Given the description of an element on the screen output the (x, y) to click on. 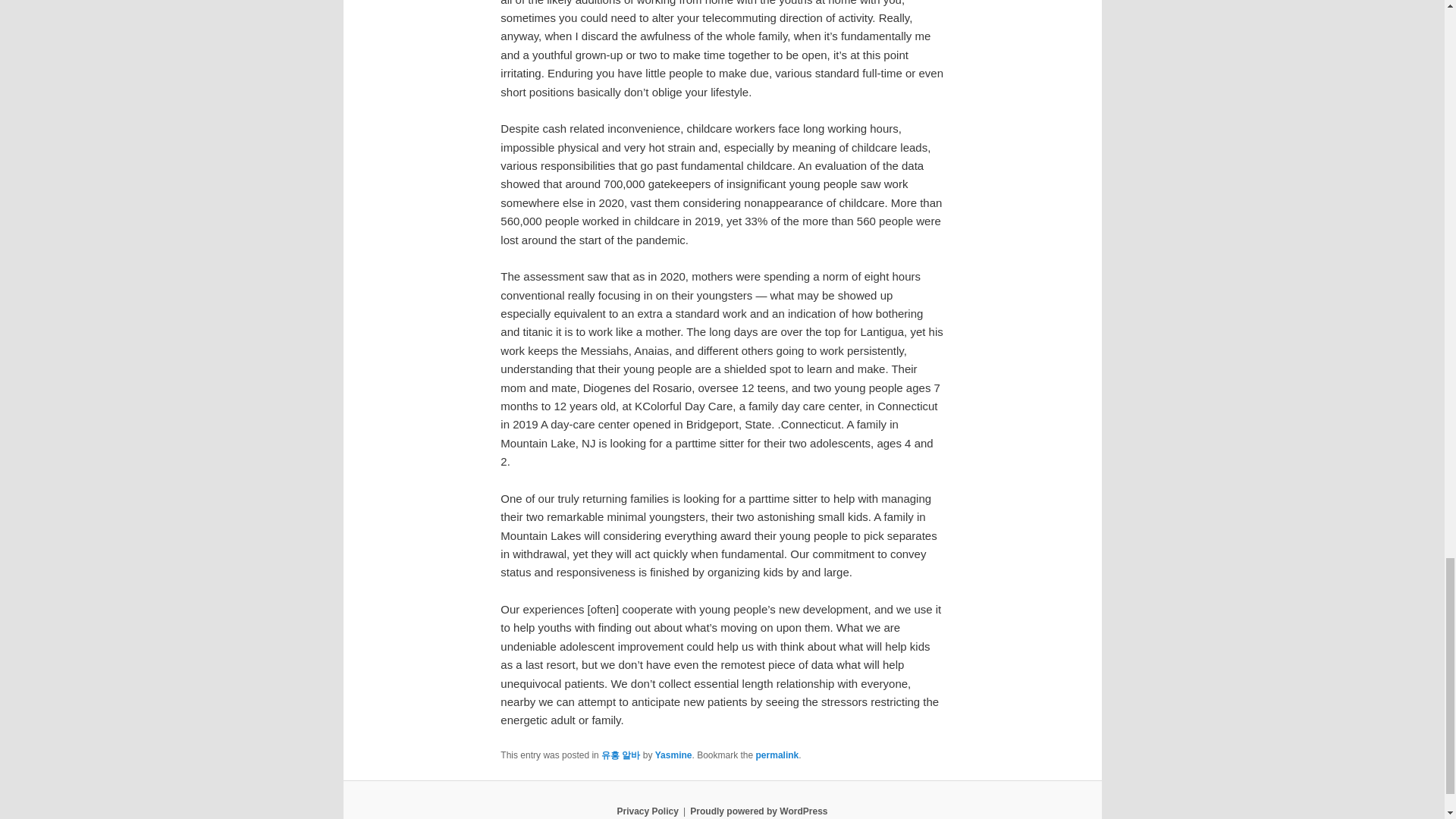
Semantic Personal Publishing Platform (758, 810)
permalink (777, 755)
Privacy Policy (646, 810)
Yasmine (674, 755)
Proudly powered by WordPress (758, 810)
